Given the description of an element on the screen output the (x, y) to click on. 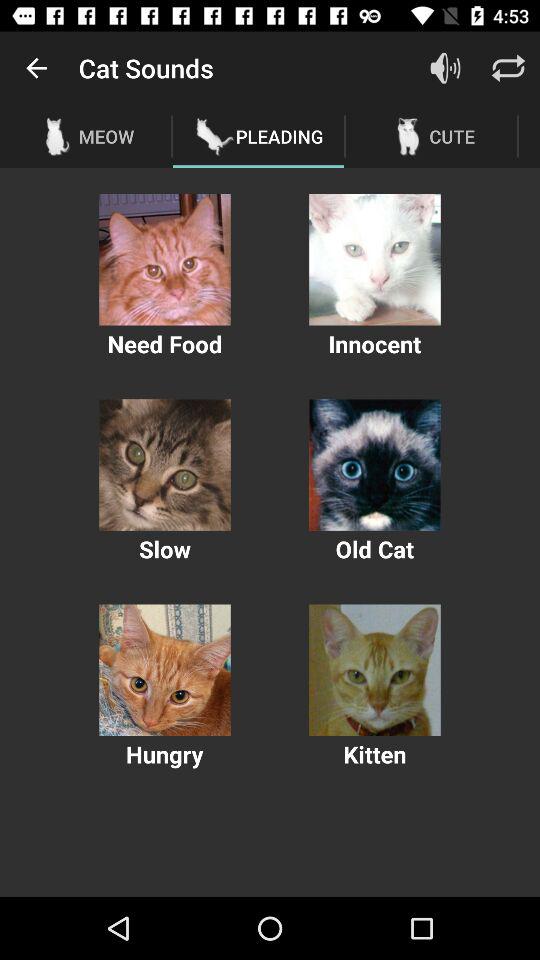
hear a cat sound (374, 259)
